Given the description of an element on the screen output the (x, y) to click on. 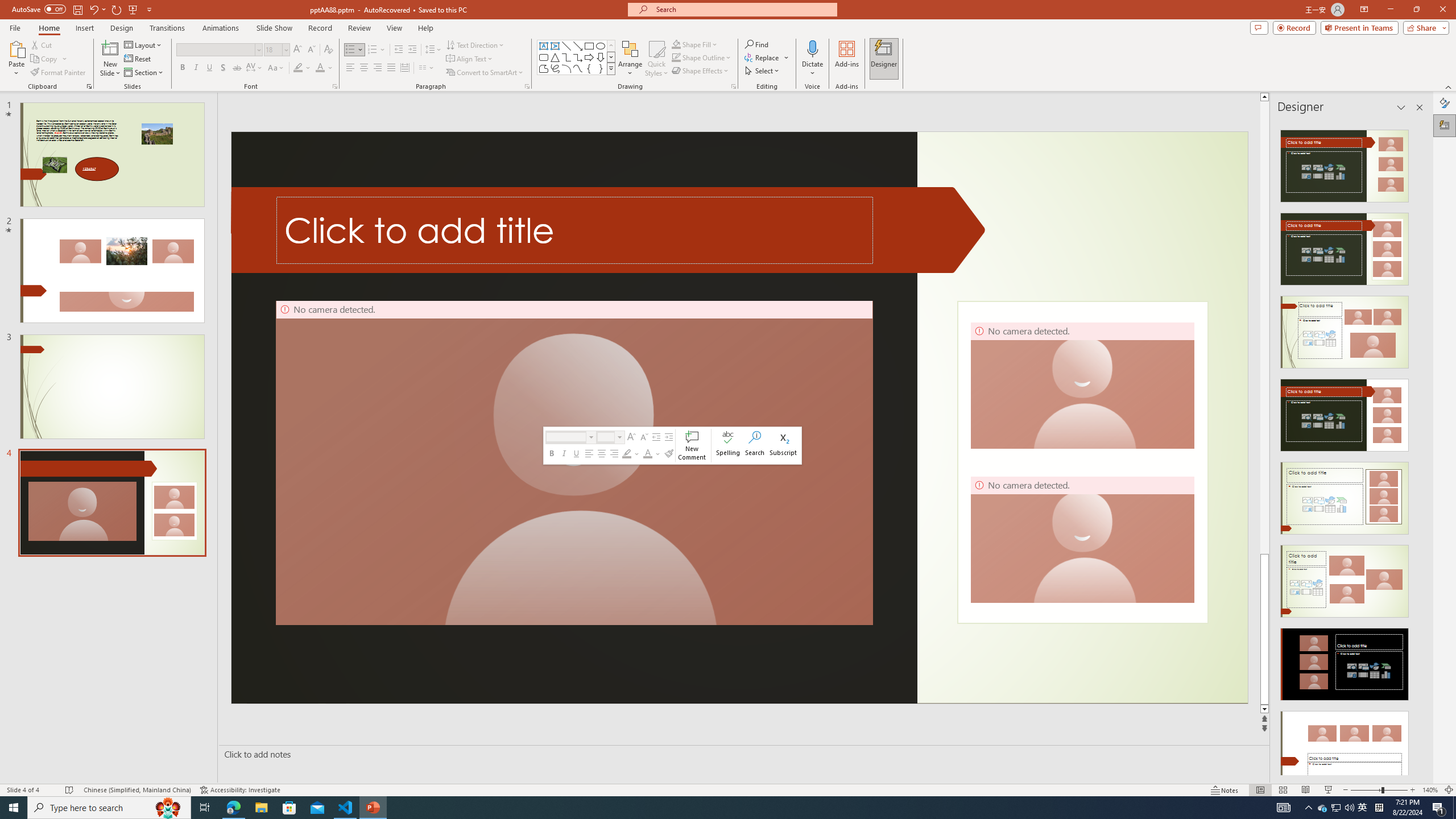
Class: NetUIToolWindow (672, 445)
